Given the description of an element on the screen output the (x, y) to click on. 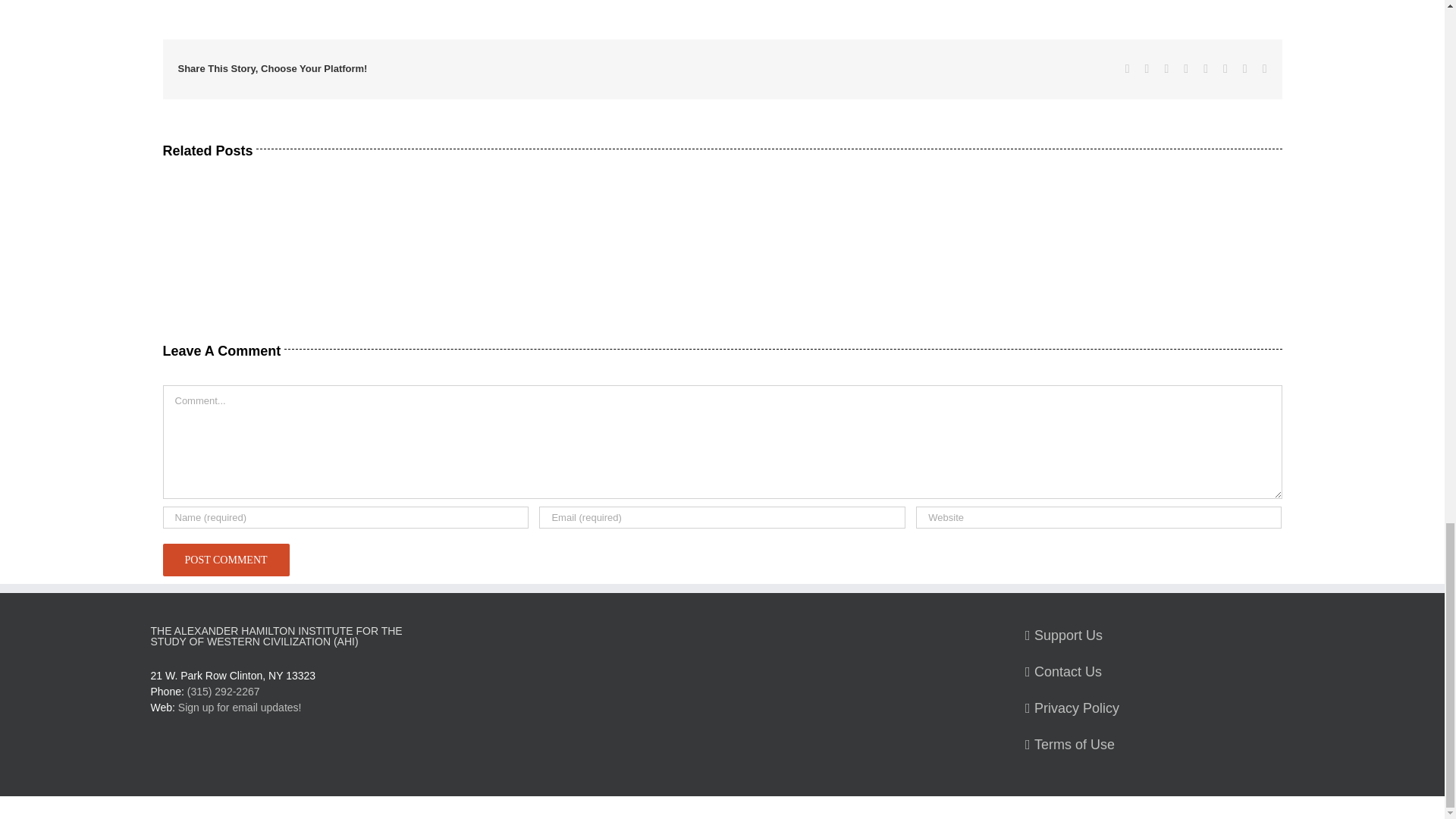
Post Comment (224, 559)
